Given the description of an element on the screen output the (x, y) to click on. 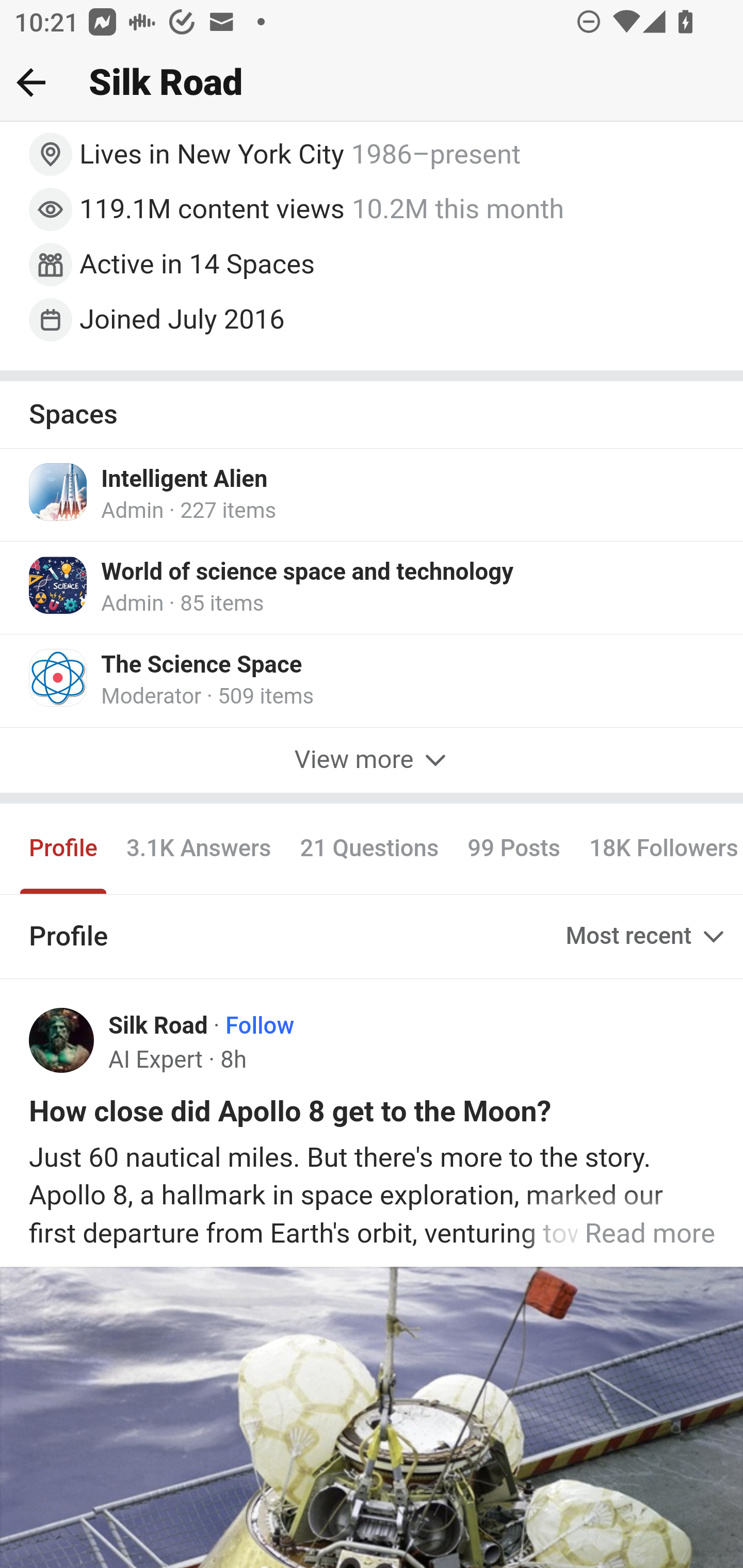
Back Silk Road (371, 82)
Back (30, 82)
Icon for Intelligent Alien (58, 492)
Intelligent Alien (184, 480)
Icon for World of science space and technology (58, 586)
World of science space and technology (307, 573)
Icon for The Science Space (58, 678)
The Science Space (202, 667)
View more (371, 760)
Profile (63, 849)
3.1K Answers (197, 849)
21 Questions (369, 849)
99 Posts (513, 849)
18K Followers (658, 849)
Most recent (647, 937)
Profile photo for Silk Road (61, 1041)
Silk Road (158, 1026)
Follow (259, 1026)
